Given the description of an element on the screen output the (x, y) to click on. 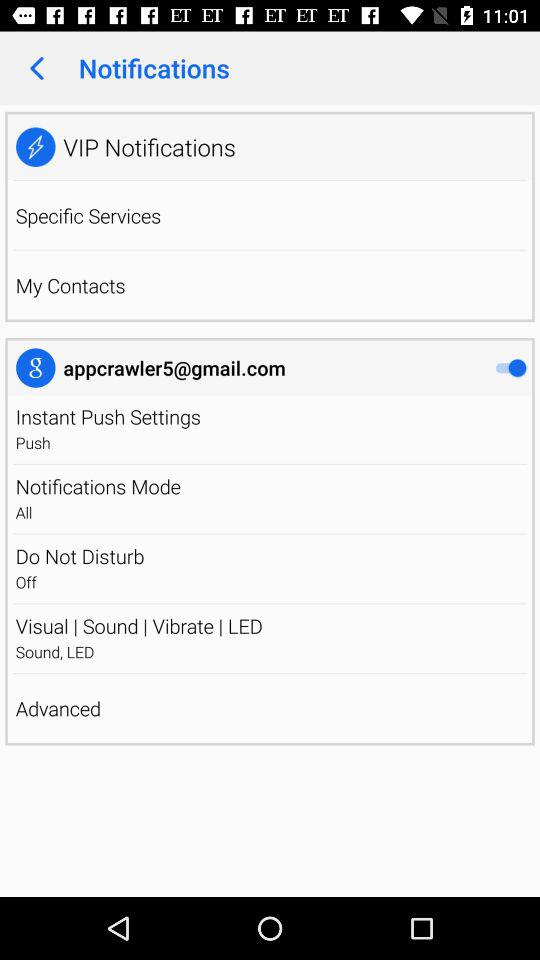
jump to the my contacts (70, 285)
